Given the description of an element on the screen output the (x, y) to click on. 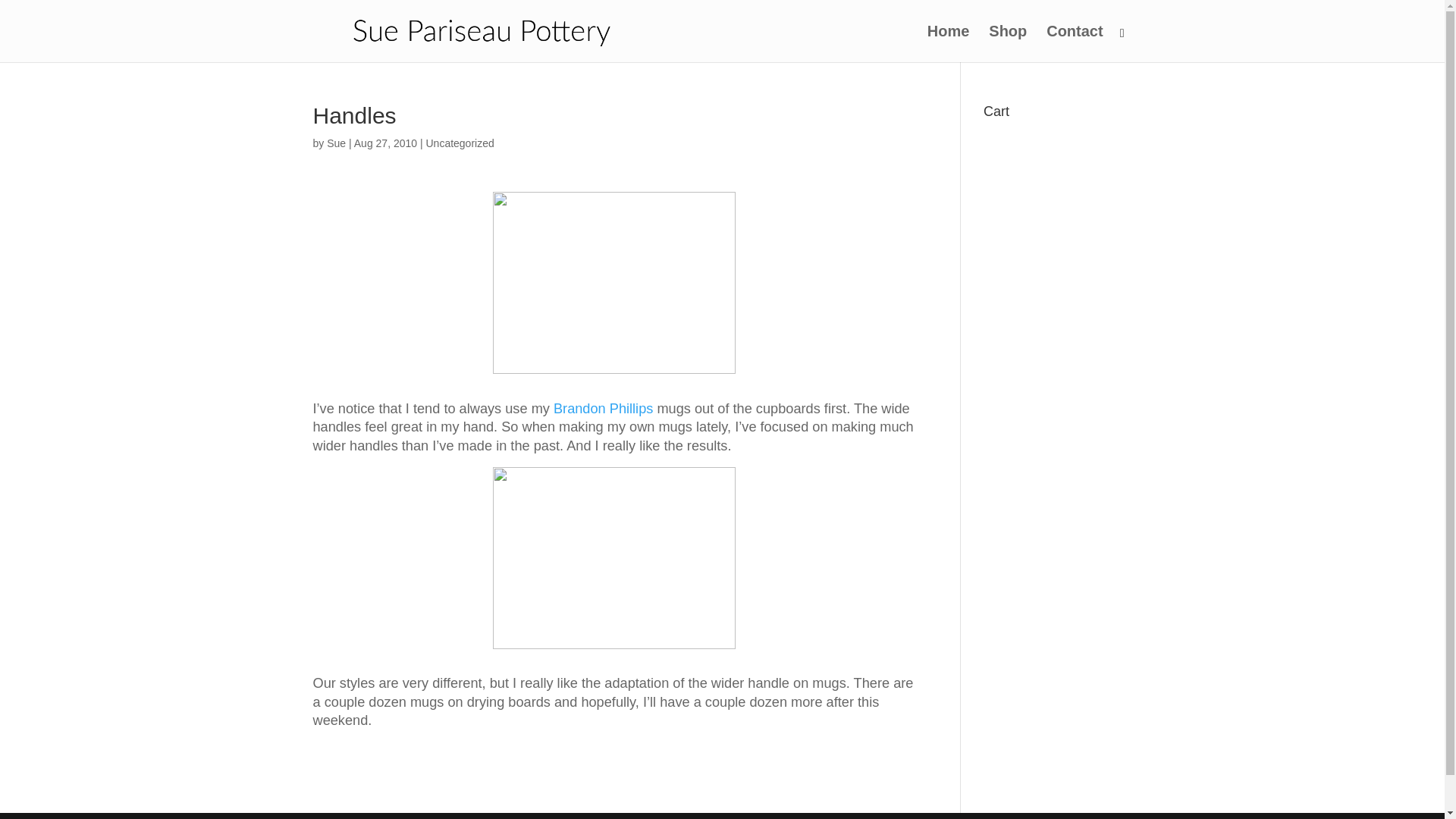
Shop (1007, 43)
Home (948, 43)
Brandon Phillips (602, 408)
Sue (336, 143)
Posts by Sue (336, 143)
Contact (1074, 43)
